Given the description of an element on the screen output the (x, y) to click on. 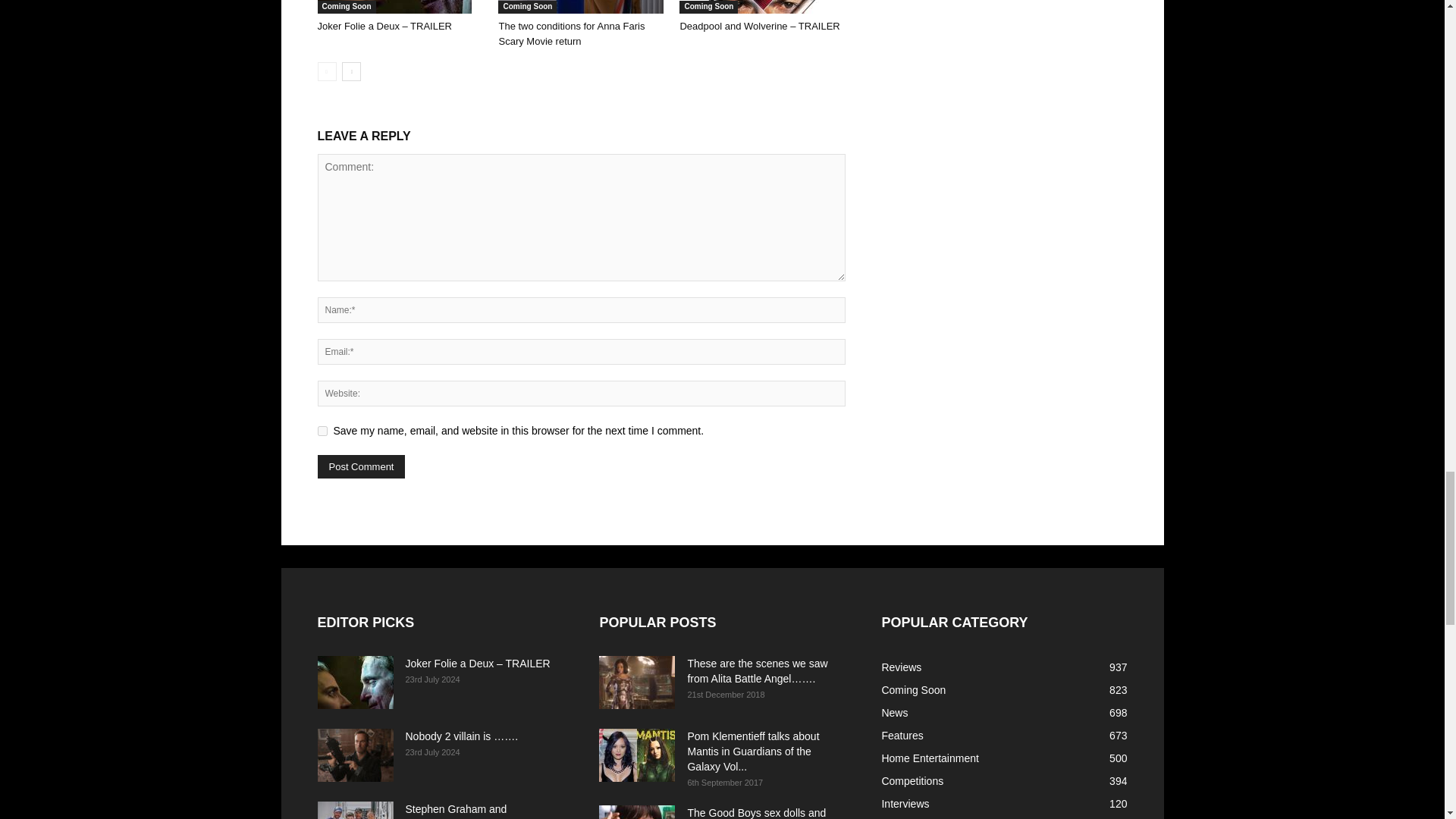
yes (321, 430)
Post Comment (360, 466)
